Given the description of an element on the screen output the (x, y) to click on. 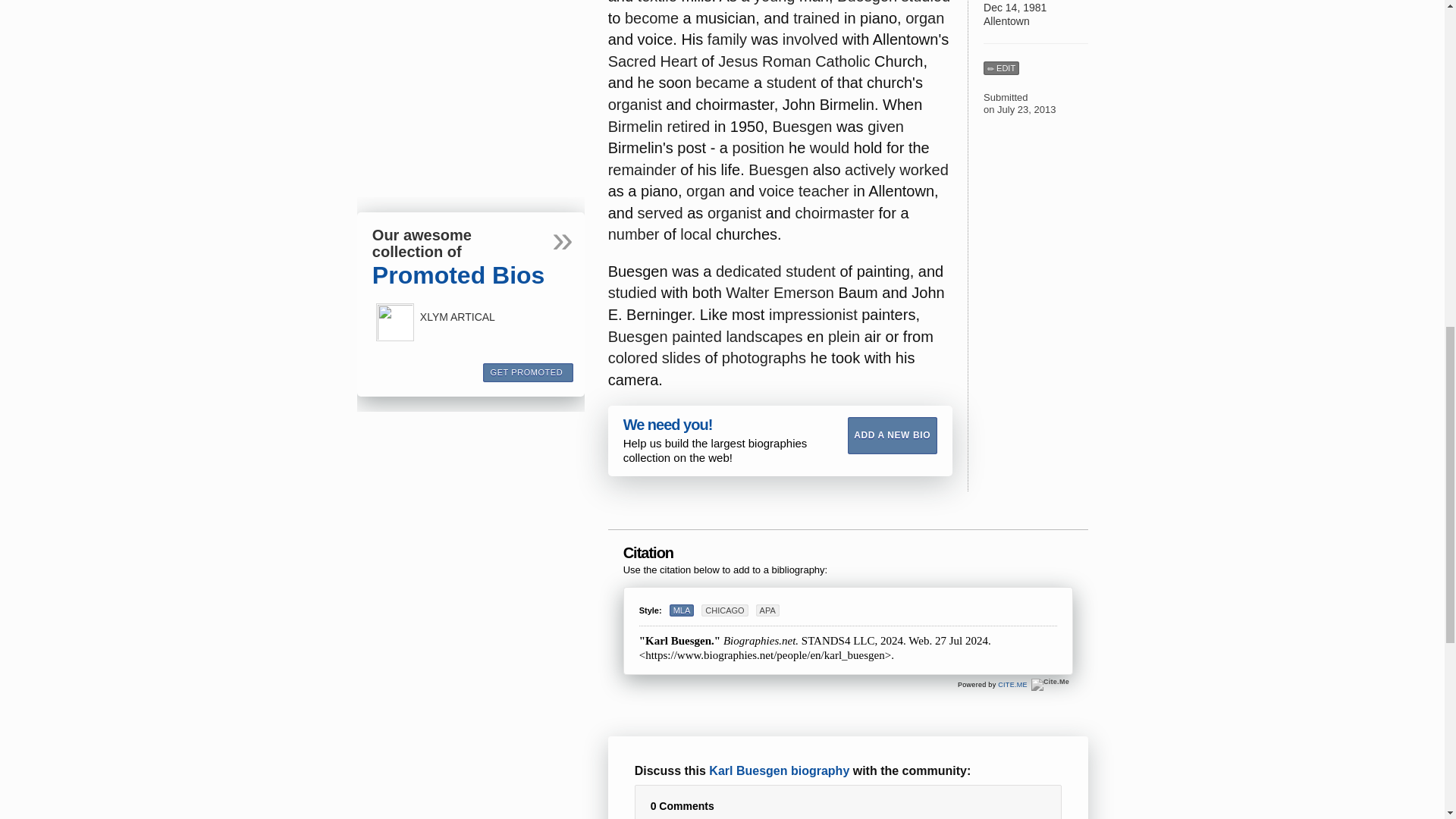
Cite.Me (1049, 684)
Copy to clipboard (1061, 605)
Cite.Me (1050, 684)
Cite.Me (1012, 684)
click to edit Karl Buesgen biography (1001, 68)
XLYM ARTICAL (394, 322)
